Given the description of an element on the screen output the (x, y) to click on. 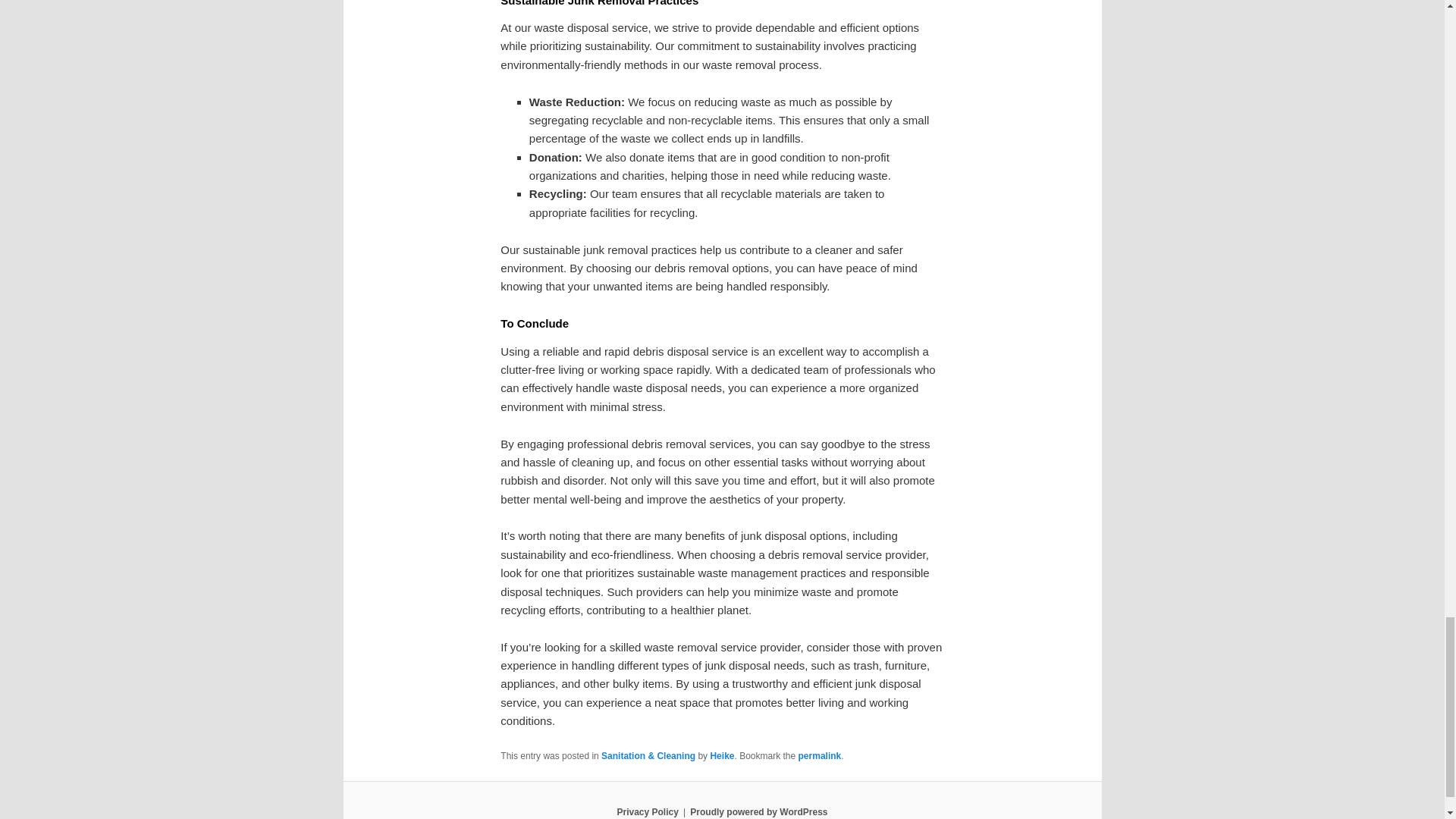
permalink (819, 756)
Proudly powered by WordPress (758, 811)
Semantic Personal Publishing Platform (758, 811)
Privacy Policy (646, 811)
Heike (721, 756)
